Given the description of an element on the screen output the (x, y) to click on. 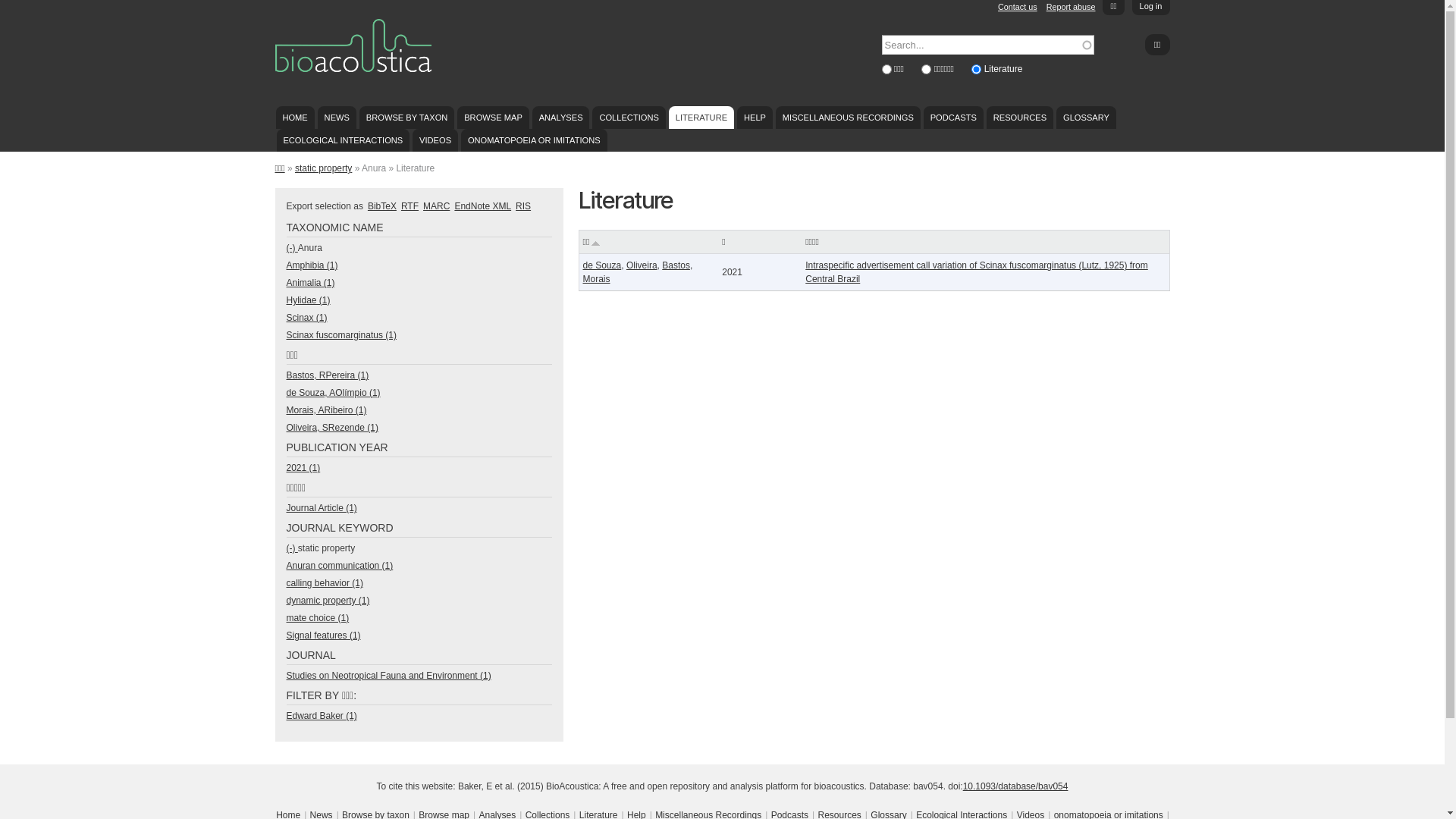
Bastos Element type: text (676, 265)
RIS Element type: text (522, 205)
Morais, ARibeiro (1)
Apply Morais, ARibeiro filter Element type: text (326, 409)
(-)
Remove Anura filter Element type: text (292, 247)
10.1093/database/bav054 Element type: text (1015, 786)
LITERATURE Element type: text (701, 117)
Log in Element type: text (1151, 7)
EndNote XML Element type: text (482, 205)
Report abuse Element type: text (1070, 6)
ONOMATOPOEIA OR IMITATIONS Element type: text (534, 139)
RTF Element type: text (409, 205)
mate choice (1)
Apply mate choice filter Element type: text (317, 617)
Journal Article (1)
Apply Journal Article filter Element type: text (321, 507)
Bastos, RPereira (1)
Apply Bastos, RPereira filter Element type: text (327, 375)
Morais Element type: text (595, 278)
Amphibia (1)
Apply Amphibia filter Element type: text (312, 265)
BROWSE MAP Element type: text (492, 117)
Edward Baker (1)
Apply Edward Baker filter Element type: text (321, 715)
Signal features (1)
Apply Signal features filter Element type: text (323, 635)
Oliveira, SRezende (1)
Apply Oliveira, SRezende filter Element type: text (332, 427)
ANALYSES Element type: text (560, 117)
static property Element type: text (322, 168)
Scinax (1)
Apply Scinax filter Element type: text (306, 317)
BROWSE BY TAXON Element type: text (406, 117)
GLOSSARY Element type: text (1086, 117)
HELP Element type: text (754, 117)
Oliveira Element type: text (641, 265)
NEWS Element type: text (336, 117)
calling behavior (1)
Apply calling behavior filter Element type: text (324, 582)
(-)
Remove static property filter Element type: text (292, 547)
RESOURCES Element type: text (1019, 117)
2021 (1)
Apply 2021 filter Element type: text (303, 467)
ECOLOGICAL INTERACTIONS Element type: text (342, 139)
VIDEOS Element type: text (435, 139)
HOME Element type: text (295, 117)
PODCASTS Element type: text (953, 117)
de Souza Element type: text (601, 265)
Contact us Element type: text (1017, 6)
dynamic property (1)
Apply dynamic property filter Element type: text (328, 600)
Hylidae (1)
Apply Hylidae filter Element type: text (308, 299)
BibTeX Element type: text (381, 205)
Anuran communication (1)
Apply Anuran communication filter Element type: text (339, 565)
COLLECTIONS Element type: text (628, 117)
MISCELLANEOUS RECORDINGS Element type: text (847, 117)
MARC Element type: text (436, 205)
Animalia (1)
Apply Animalia filter Element type: text (310, 282)
